Given the description of an element on the screen output the (x, y) to click on. 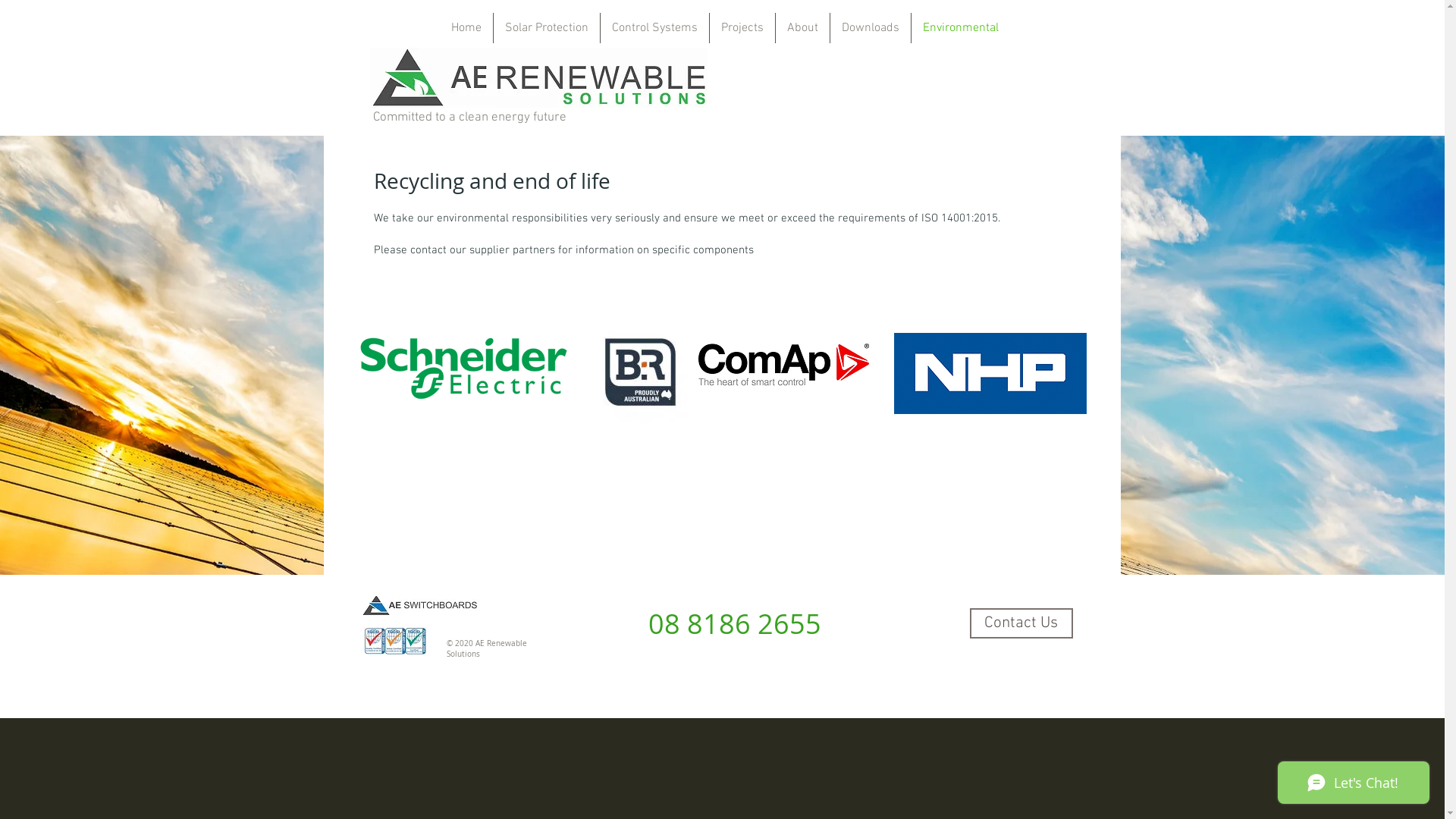
Control Systems Element type: text (654, 27)
Downloads Element type: text (869, 27)
Solar Protection Element type: text (545, 27)
Environmental Element type: text (960, 27)
Quality Health Safety Environment Accredited Element type: hover (395, 640)
Home Element type: text (465, 27)
Contact Us Element type: text (1020, 623)
Embedded Content Element type: hover (996, 357)
About Element type: text (801, 27)
Projects Element type: text (742, 27)
